Given the description of an element on the screen output the (x, y) to click on. 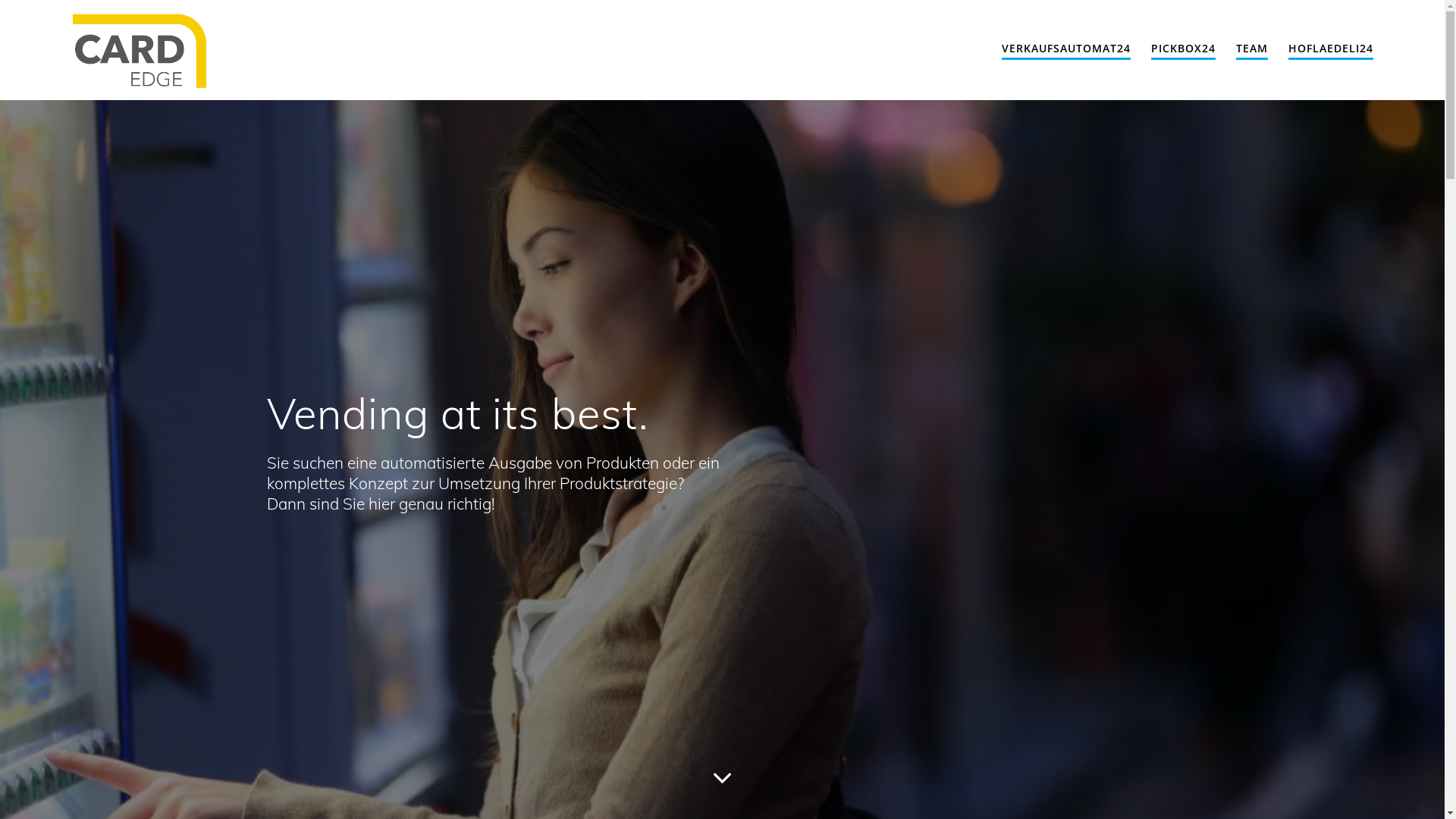
HOFLAEDELI24 Element type: text (1330, 49)
TEAM Element type: text (1251, 49)
PICKBOX24 Element type: text (1183, 49)
VERKAUFSAUTOMAT24 Element type: text (1065, 49)
